Given the description of an element on the screen output the (x, y) to click on. 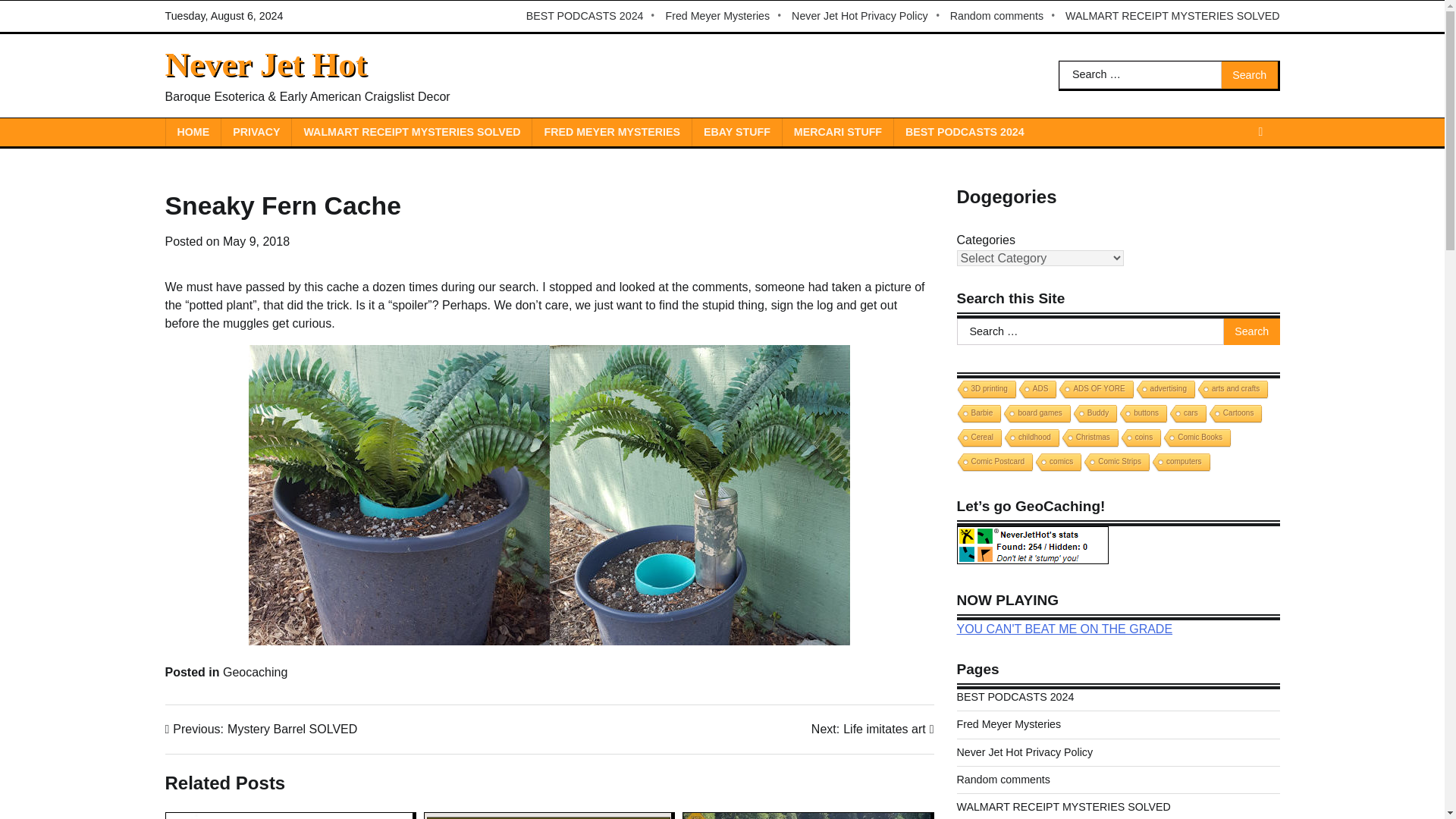
Never Jet Hot (265, 64)
HOME (193, 131)
MERCARI STUFF (837, 131)
Search (1251, 331)
EBAY STUFF (736, 131)
Search (1249, 74)
WALMART RECEIPT MYSTERIES SOLVED (411, 131)
WALMART RECEIPT MYSTERIES SOLVED (1172, 16)
View Random Post (1260, 131)
Random comments (1004, 16)
Geocaching (254, 671)
BEST PODCASTS 2024 (591, 16)
Search (1251, 331)
Fred Meyer Mysteries (724, 16)
